Given the description of an element on the screen output the (x, y) to click on. 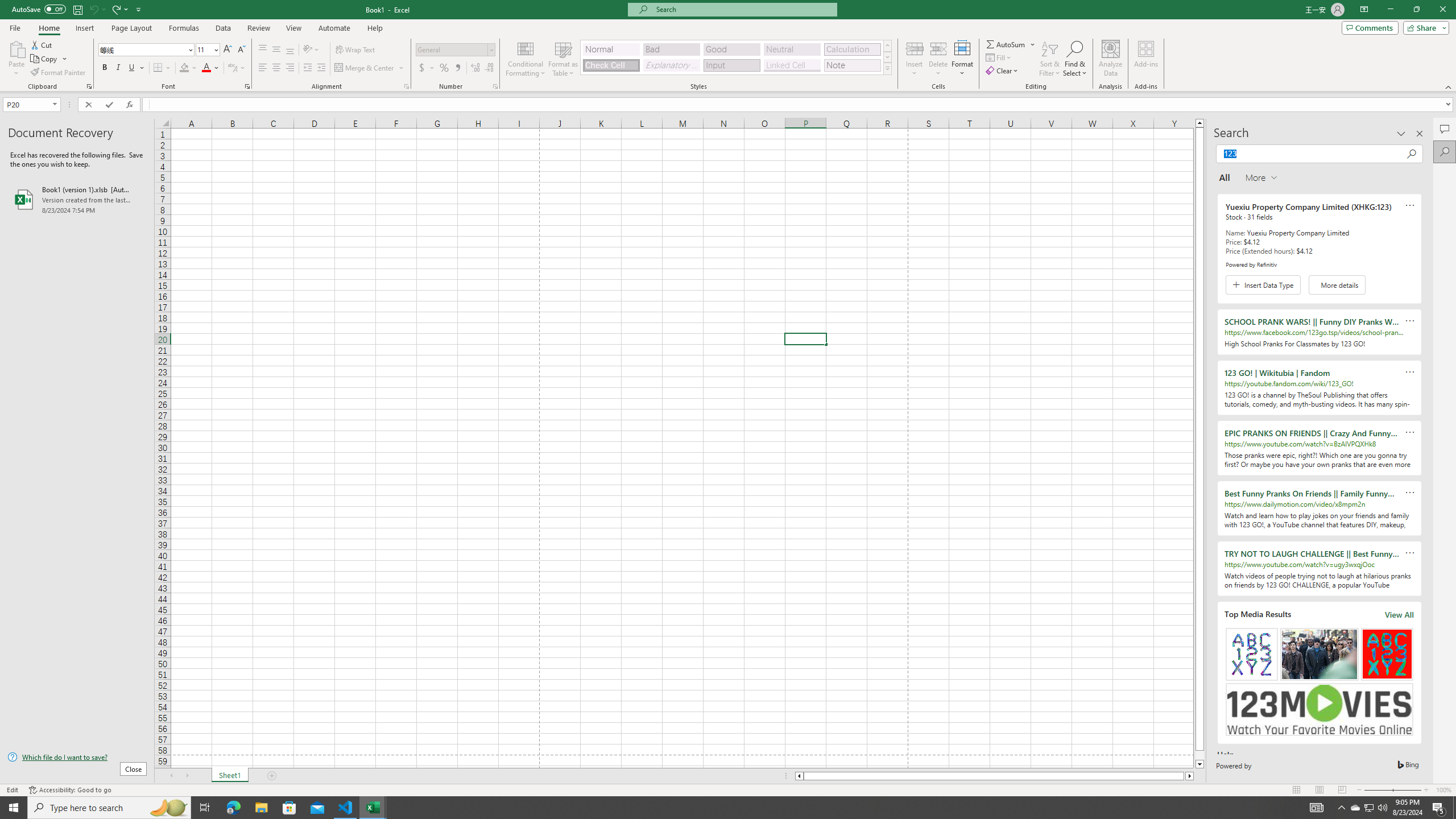
Close (1442, 9)
Font Color RGB(255, 0, 0) (206, 67)
Line up (1199, 122)
Orientation (311, 49)
Ribbon Display Options (1364, 9)
Clear (1003, 69)
Top Align (262, 49)
Sort & Filter (1049, 58)
AutoSum (1011, 44)
Collapse the Ribbon (1448, 86)
Add Sheet (272, 775)
Merge & Center (369, 67)
Undo (96, 9)
Automate (334, 28)
